Given the description of an element on the screen output the (x, y) to click on. 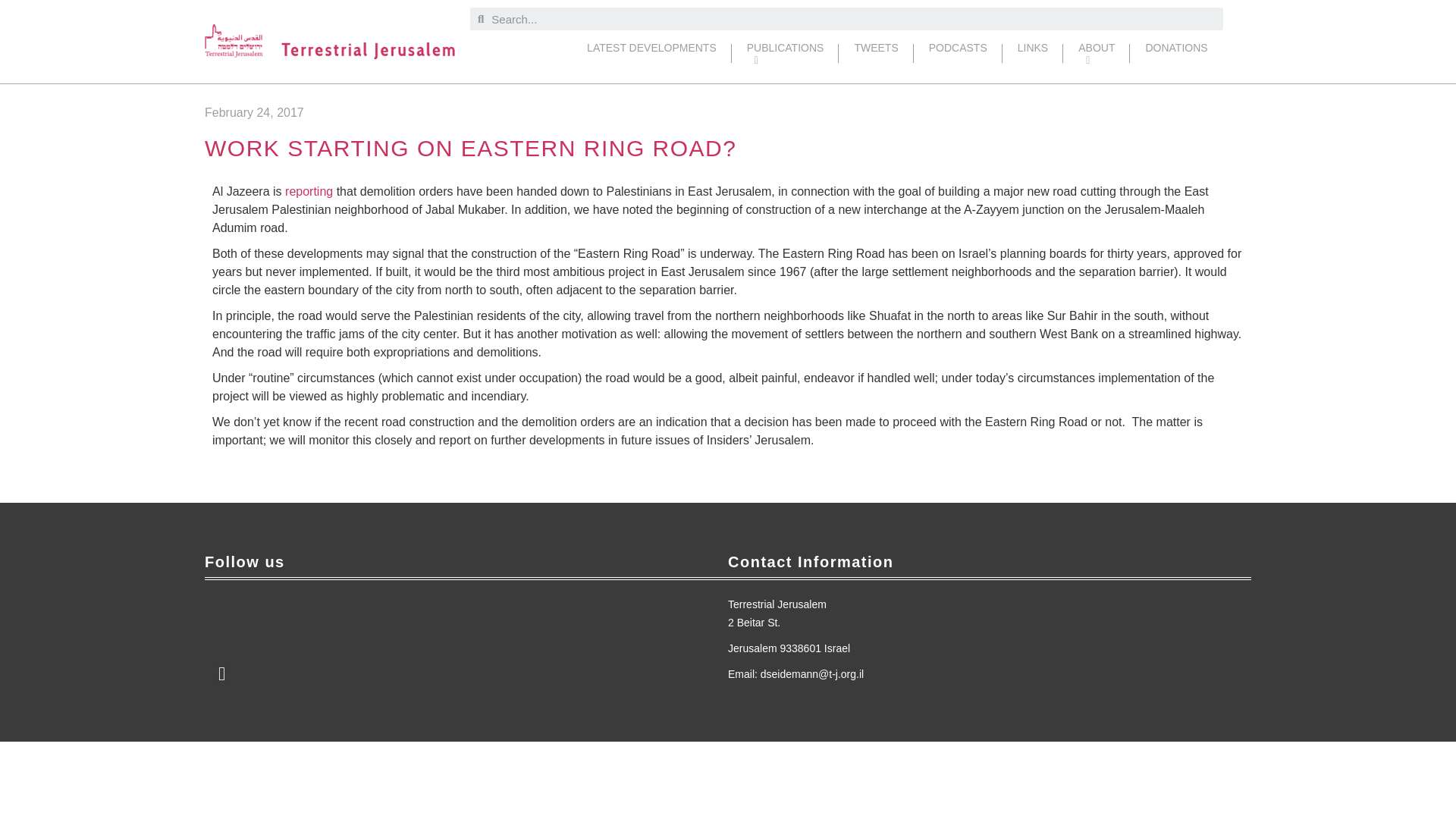
TWEETS (875, 53)
ABOUT (1095, 53)
LATEST DEVELOPMENTS (652, 53)
PODCASTS (958, 53)
PUBLICATIONS (786, 53)
Search (853, 18)
DONATIONS (1176, 53)
LINKS (1032, 53)
